Given the description of an element on the screen output the (x, y) to click on. 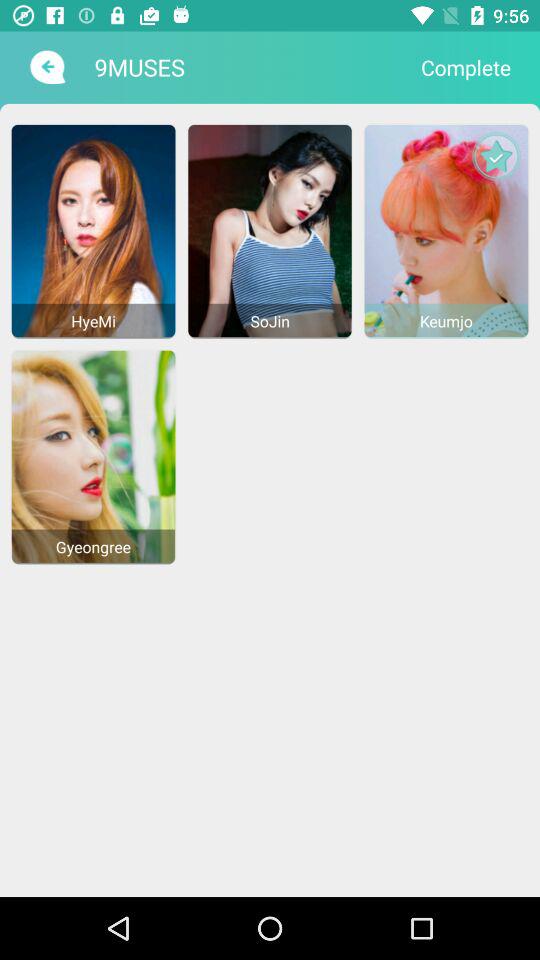
swipe to the complete item (465, 67)
